Given the description of an element on the screen output the (x, y) to click on. 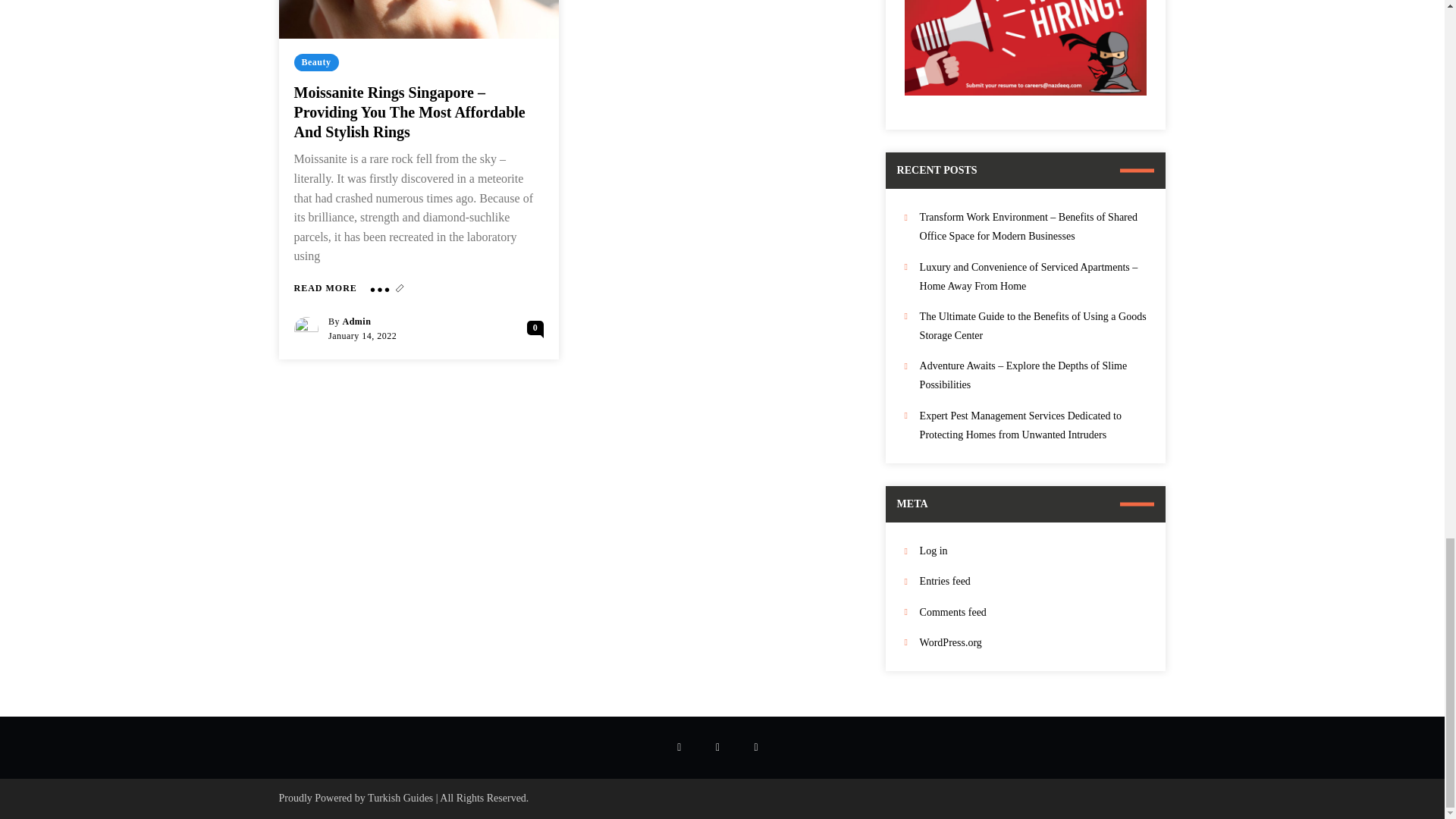
Admin (356, 321)
January 14, 2022 (362, 335)
View all posts in Beauty (316, 62)
Beauty (316, 62)
0 (535, 327)
